Given the description of an element on the screen output the (x, y) to click on. 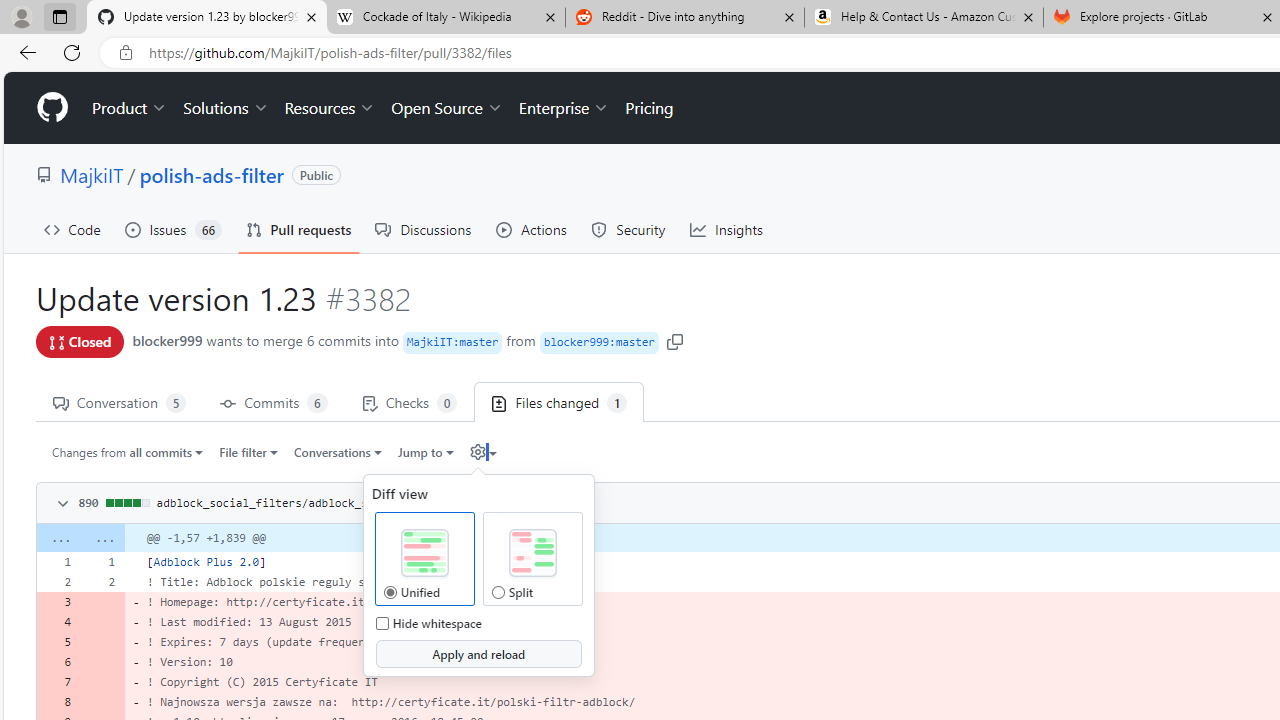
8 (58, 701)
Pull requests (298, 229)
Issues66 (173, 229)
Diff settings (477, 452)
File filter (248, 451)
3 (58, 601)
Hide whitespace (382, 623)
Split Diff View Split (498, 591)
Original file line number (63, 555)
polish-ads-filter (211, 174)
Open Source (446, 107)
Apply and reload (478, 654)
Pricing (649, 107)
